Given the description of an element on the screen output the (x, y) to click on. 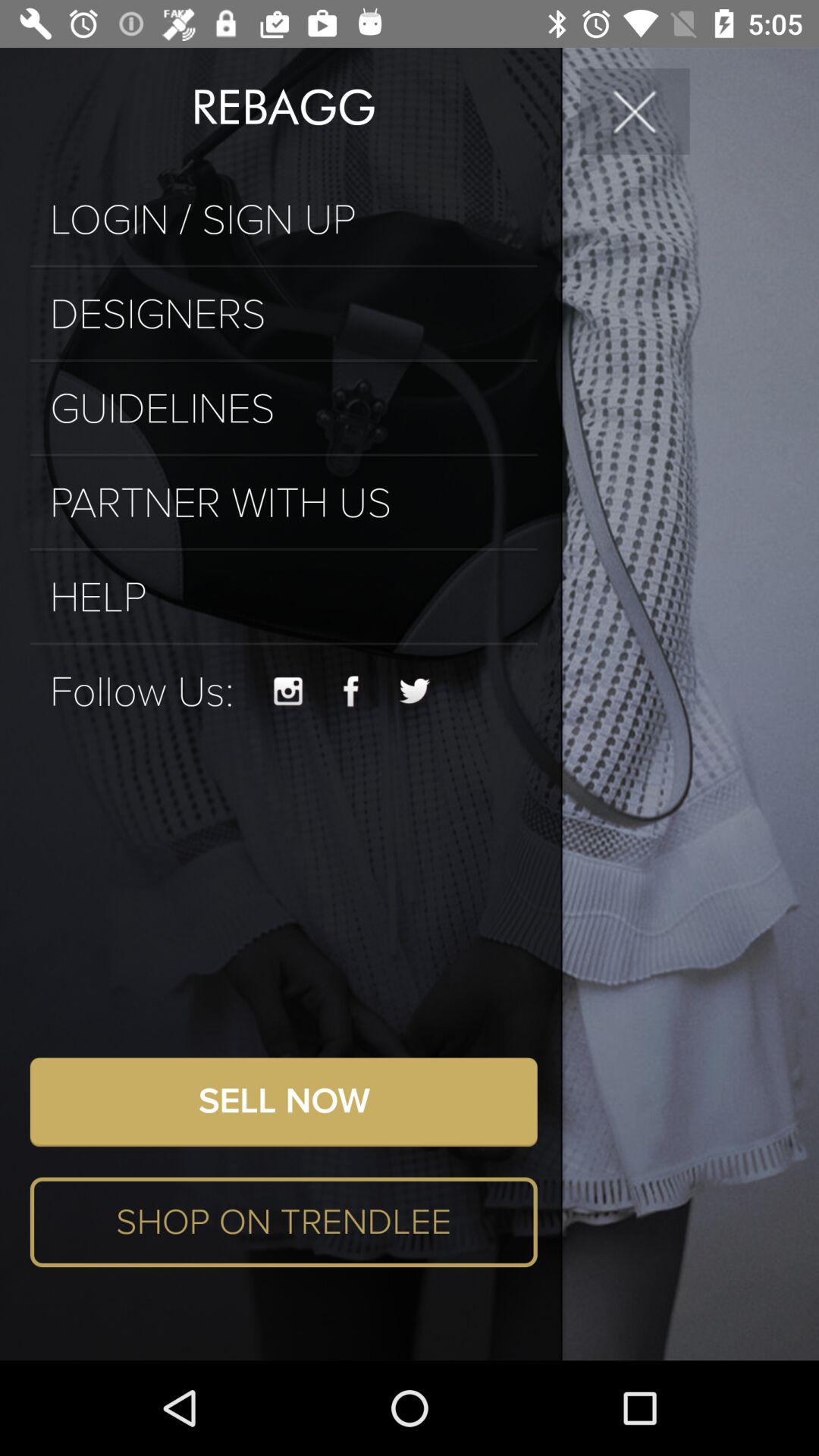
click the icon to the right of the rebagg icon (634, 110)
